Given the description of an element on the screen output the (x, y) to click on. 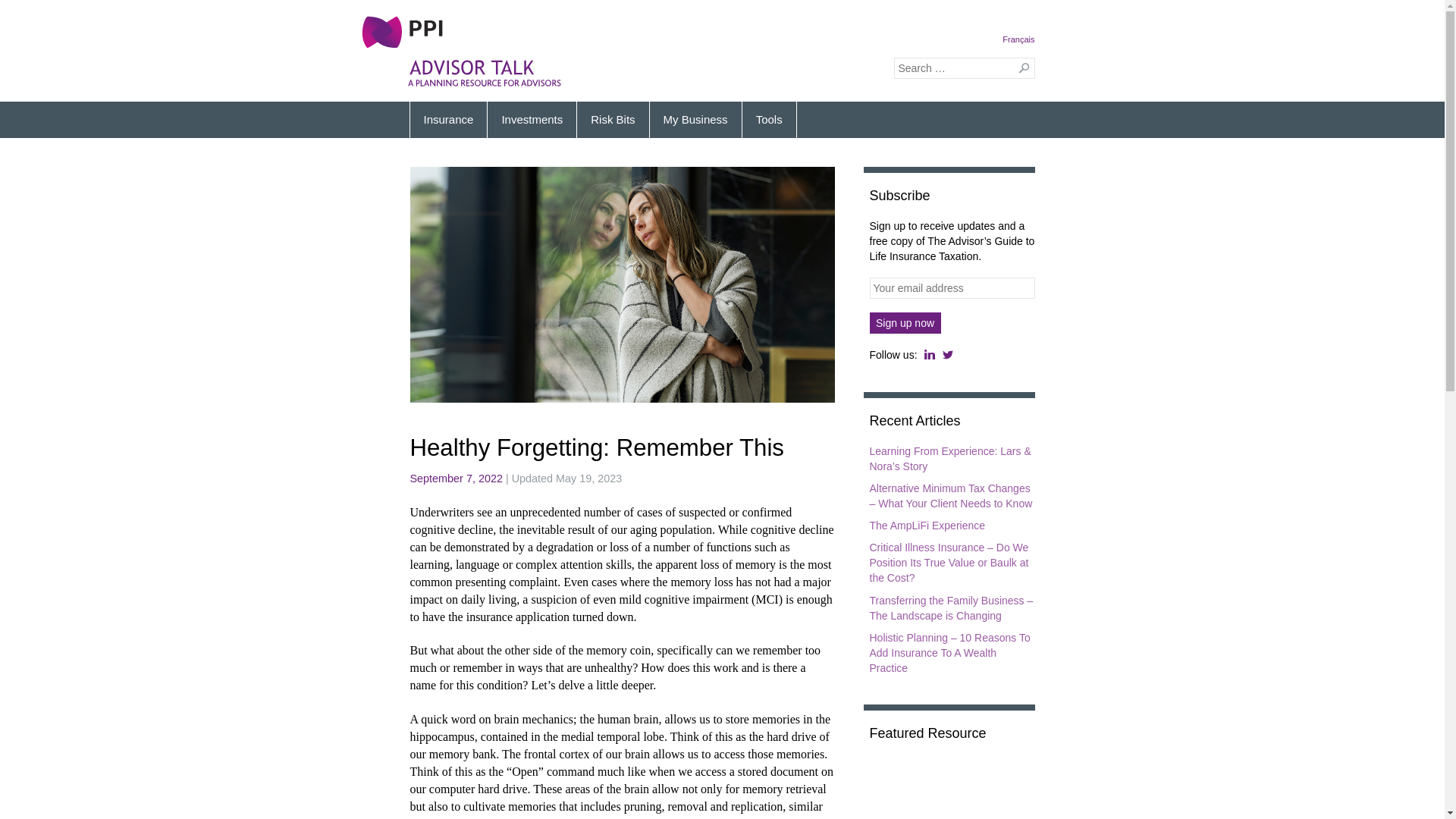
Search Element type: text (1020, 68)
September 7, 2022 Element type: text (455, 478)
Insurance Element type: text (448, 119)
Risk Bits Element type: text (612, 119)
Investments Element type: text (531, 119)
The AmpLiFi Experience Element type: text (927, 525)
Sign up now Element type: text (904, 322)
My Business Element type: text (695, 119)
Tools Element type: text (769, 119)
a Element type: text (947, 354)
j Element type: text (929, 354)
